Given the description of an element on the screen output the (x, y) to click on. 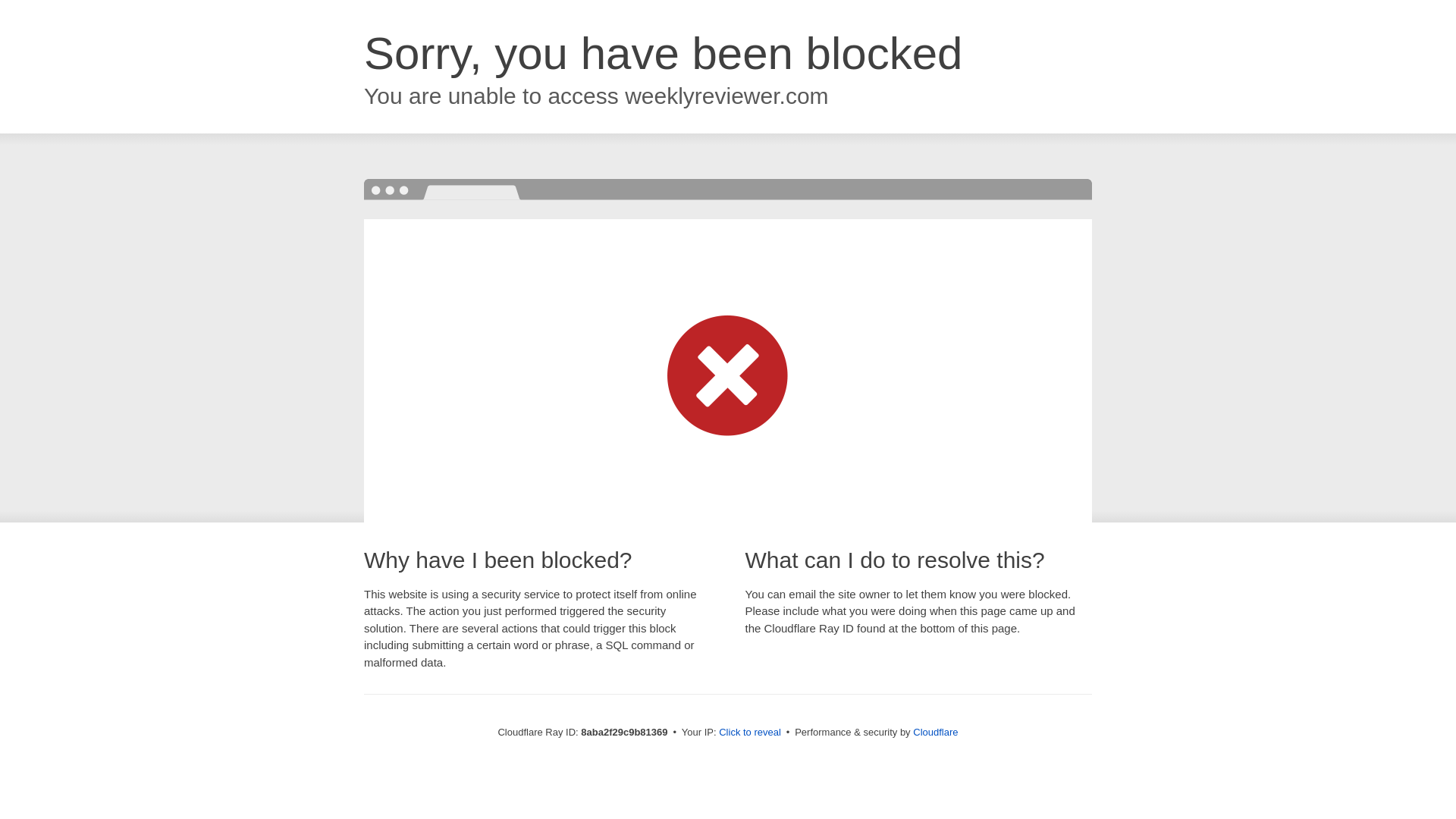
Cloudflare (935, 731)
Click to reveal (749, 732)
